Given the description of an element on the screen output the (x, y) to click on. 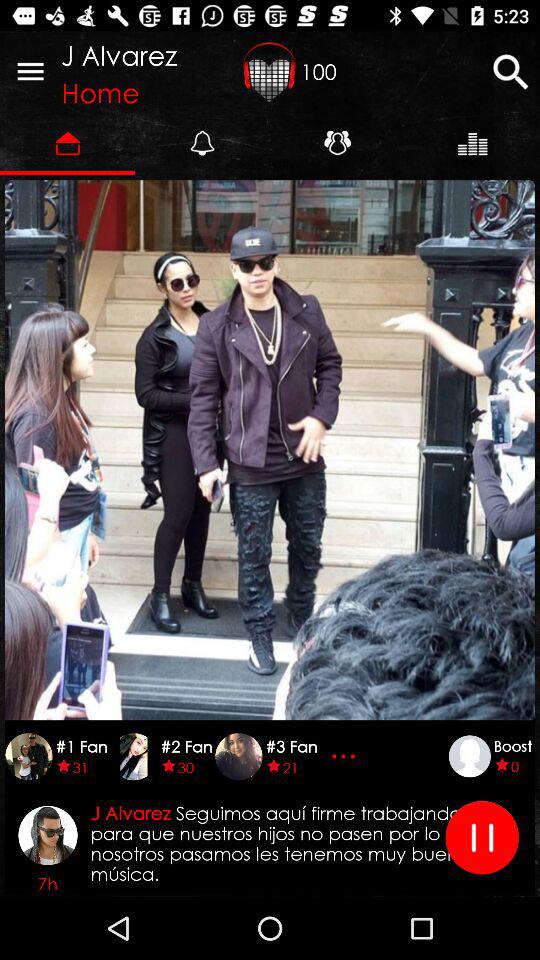
select the icon to the right of 100 (510, 71)
